Given the description of an element on the screen output the (x, y) to click on. 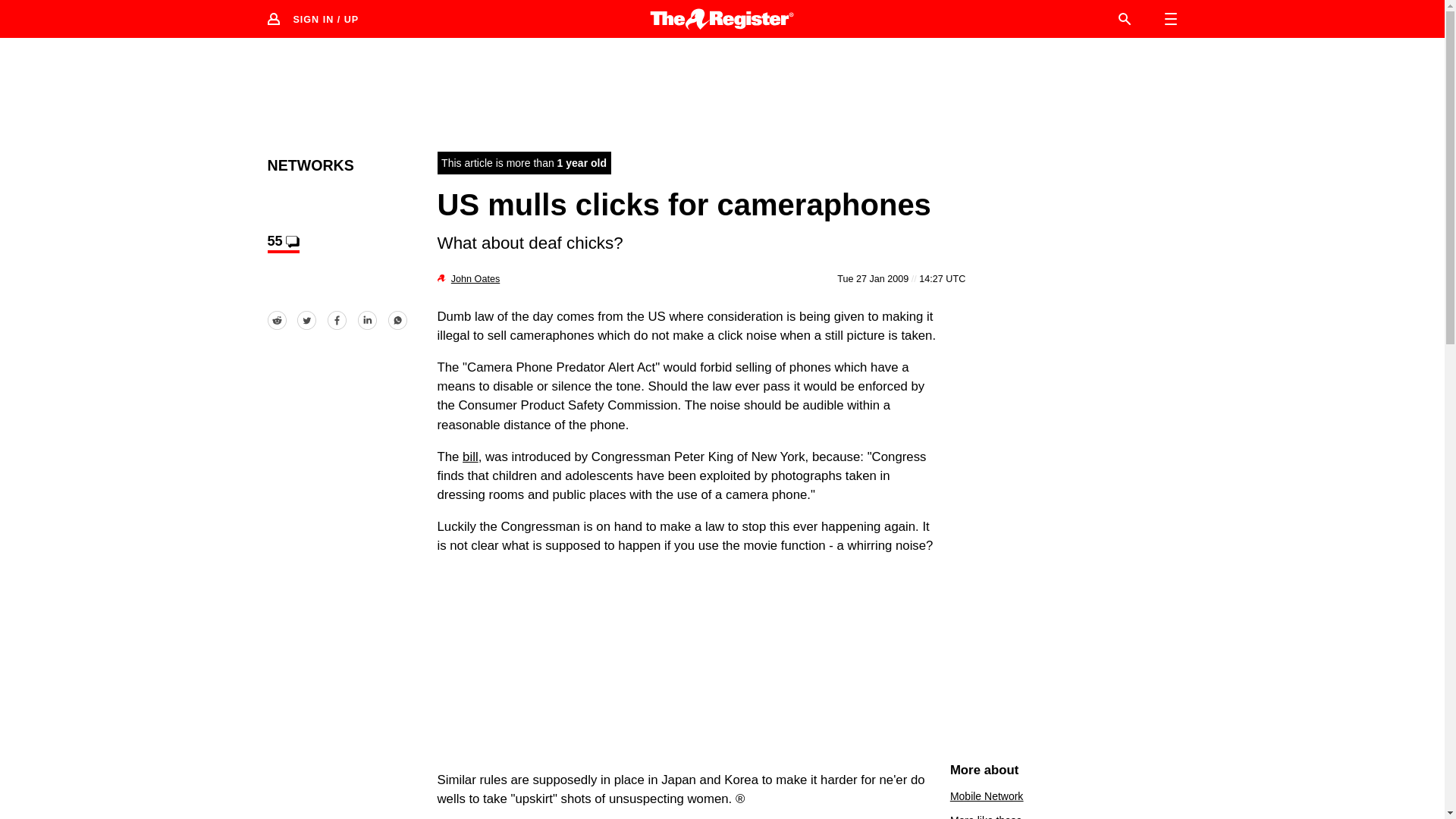
Read more by this author (475, 278)
View comments on this article (282, 243)
